Given the description of an element on the screen output the (x, y) to click on. 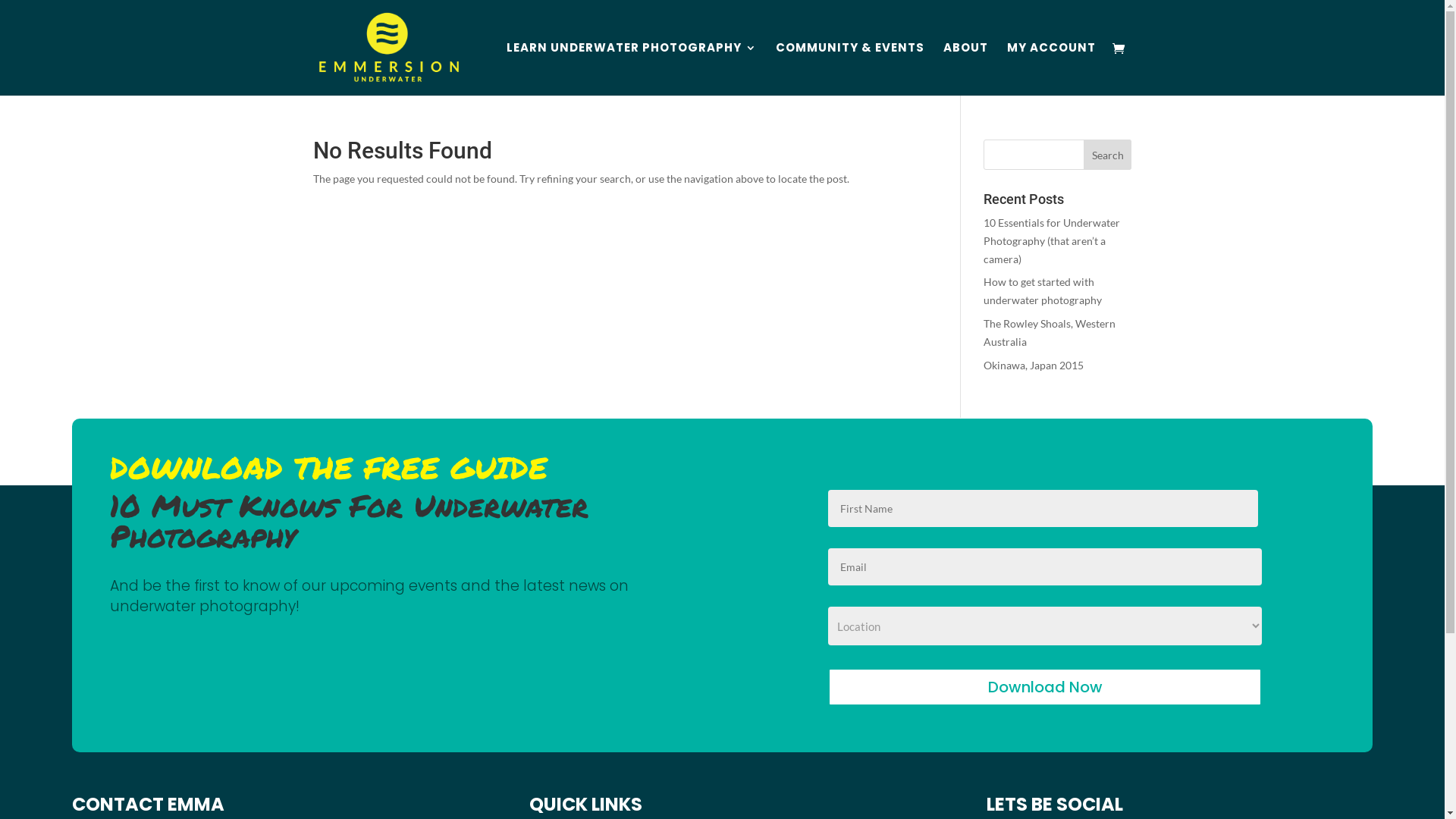
How to get started with underwater photography Element type: text (1042, 290)
The Rowley Shoals, Western Australia Element type: text (1049, 332)
Search Element type: text (1107, 154)
Okinawa, Japan 2015 Element type: text (1033, 364)
LEARN UNDERWATER PHOTOGRAPHY Element type: text (631, 68)
Download Now Element type: text (1044, 687)
ABOUT Element type: text (965, 68)
COMMUNITY & EVENTS Element type: text (849, 68)
MY ACCOUNT Element type: text (1051, 68)
